Given the description of an element on the screen output the (x, y) to click on. 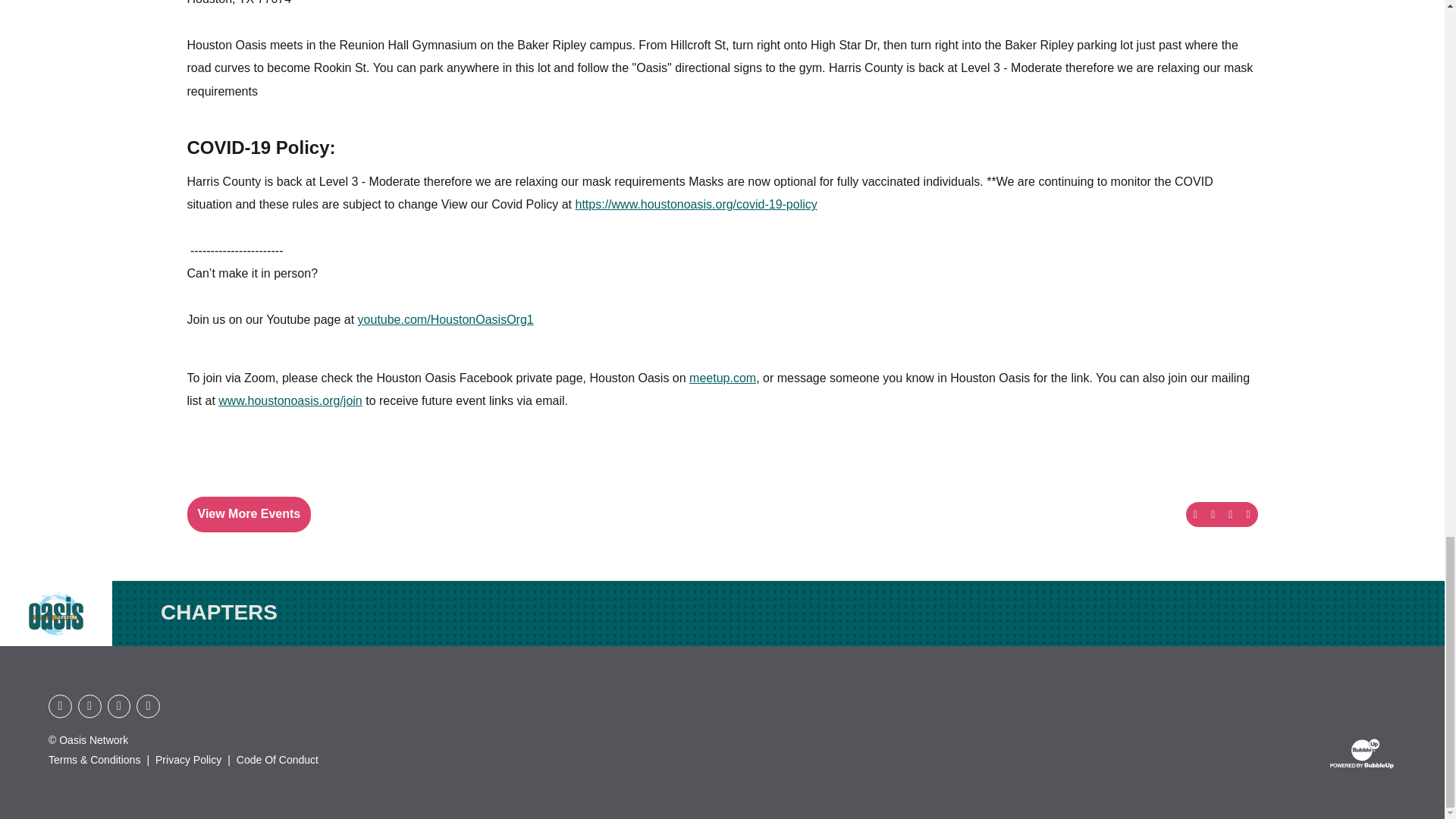
meetup.com (721, 377)
YouTube (60, 706)
Twitter (148, 706)
Instagram (118, 706)
Facebook (89, 706)
View More Events (248, 513)
